Given the description of an element on the screen output the (x, y) to click on. 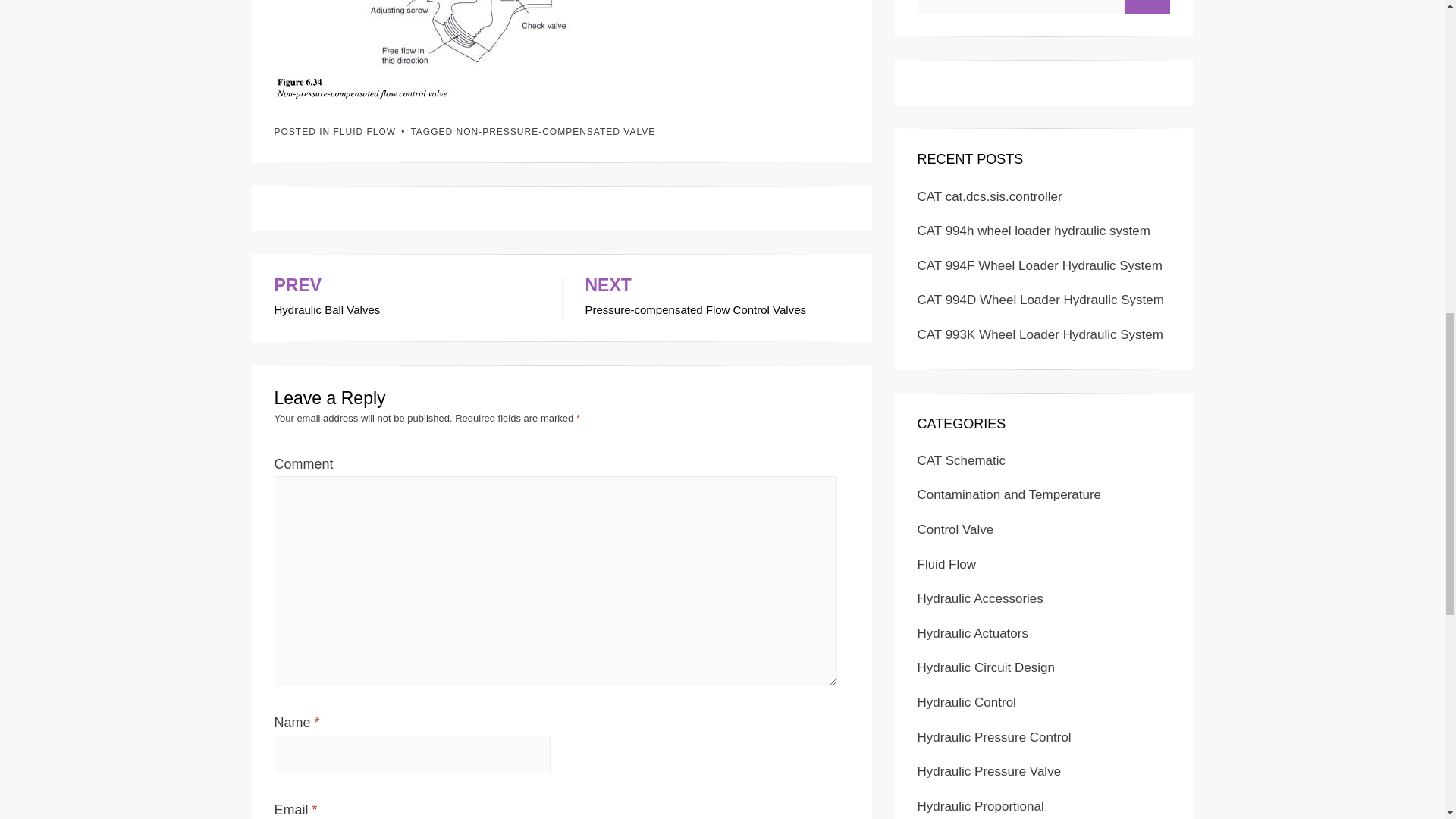
Control Valve (955, 529)
CAT cat.dcs.sis.controller (989, 196)
Hydraulic Pressure Control (994, 737)
SEARCH (1147, 7)
FLUID FLOW (364, 131)
Contamination and Temperature (1009, 494)
CAT 994D Wheel Loader Hydraulic System (1040, 299)
Fluid Flow (946, 564)
Hydraulic Proportional (716, 297)
CAT 994F Wheel Loader Hydraulic System (980, 806)
Hydraulic Circuit Design (1039, 265)
CAT Schematic (985, 667)
Search for: (961, 460)
Hydraulic Pressure Valve (1021, 7)
